Given the description of an element on the screen output the (x, y) to click on. 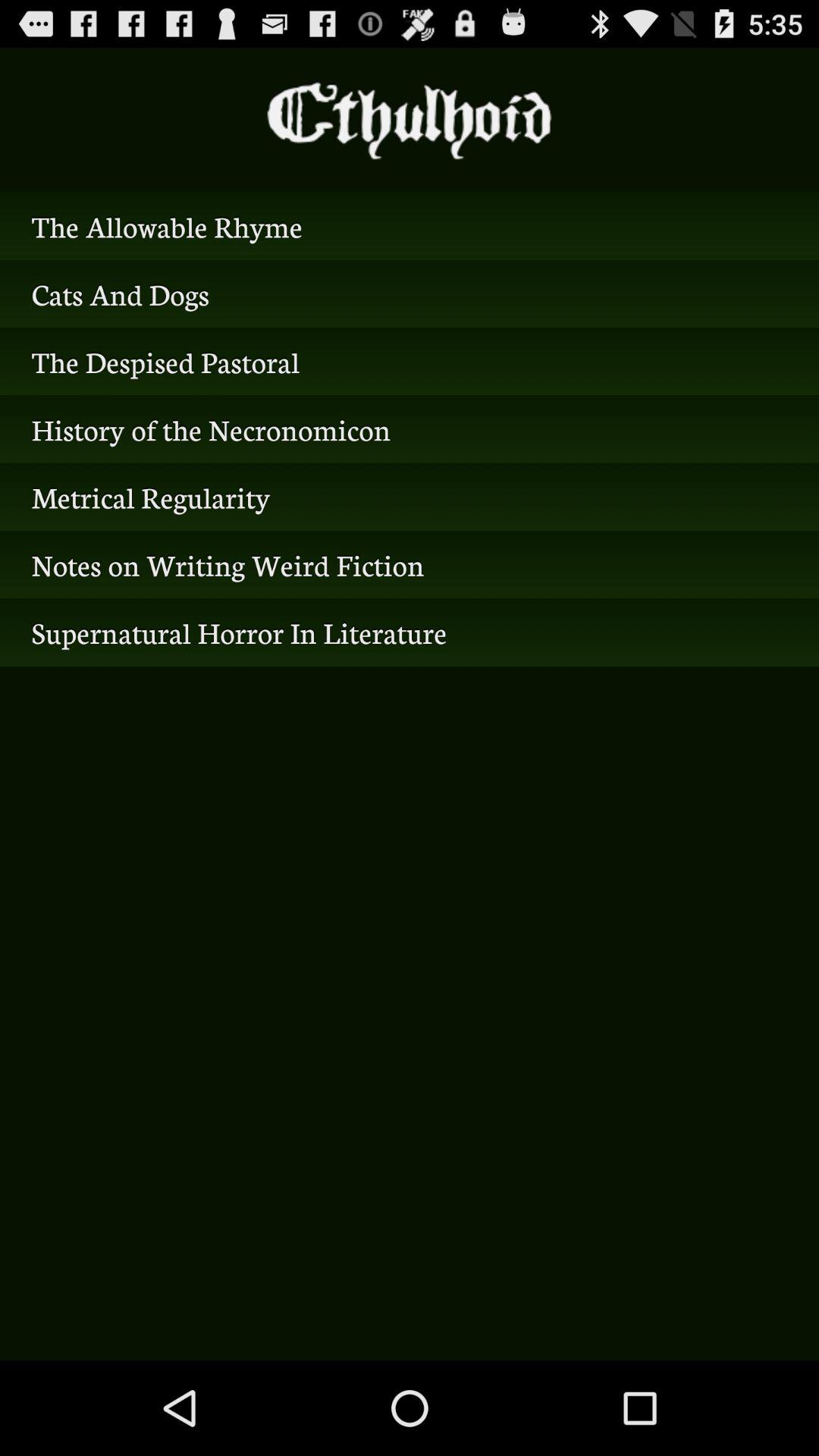
tap icon below notes on writing (409, 632)
